Given the description of an element on the screen output the (x, y) to click on. 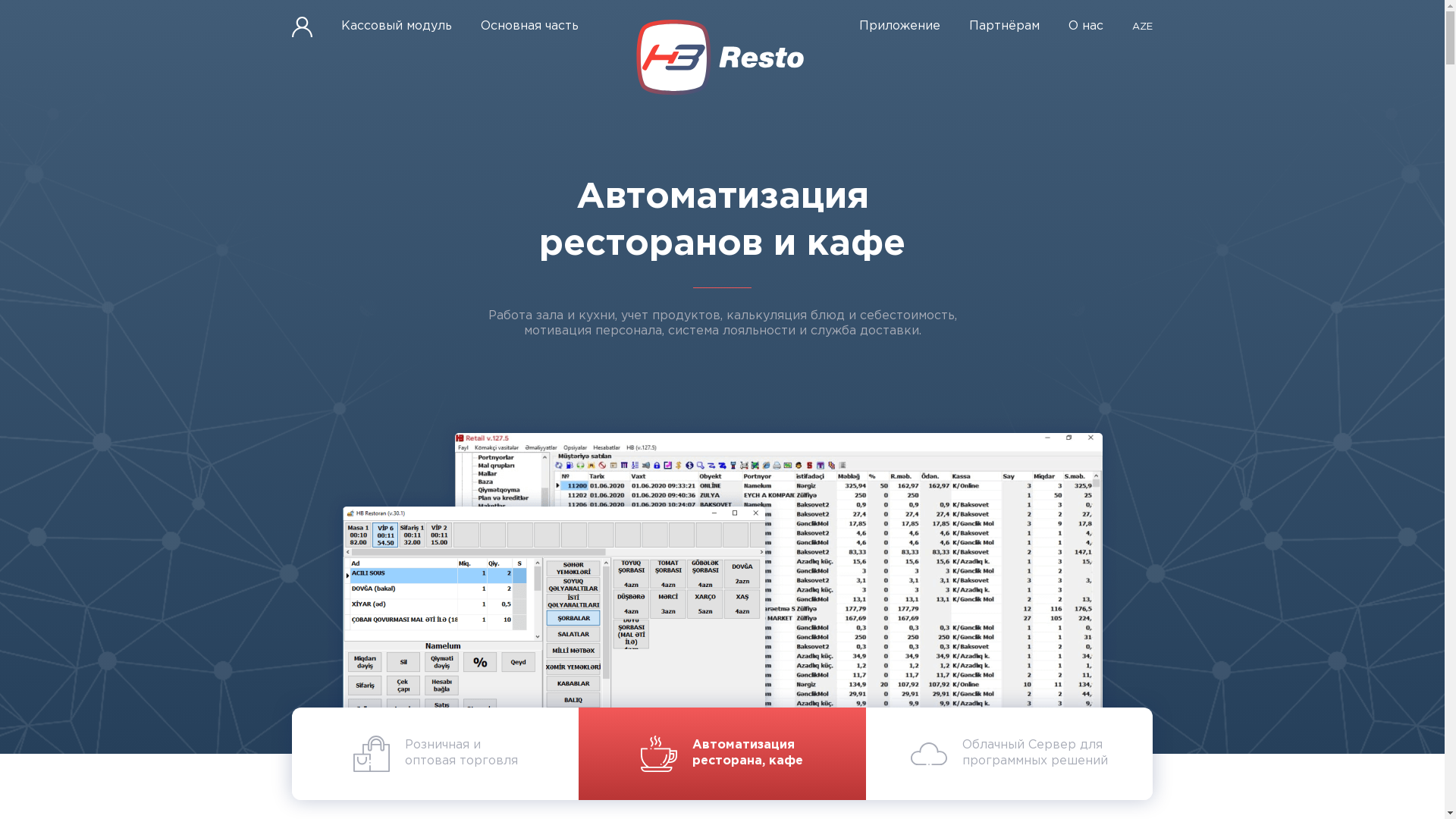
AZE Element type: text (1142, 27)
